Given the description of an element on the screen output the (x, y) to click on. 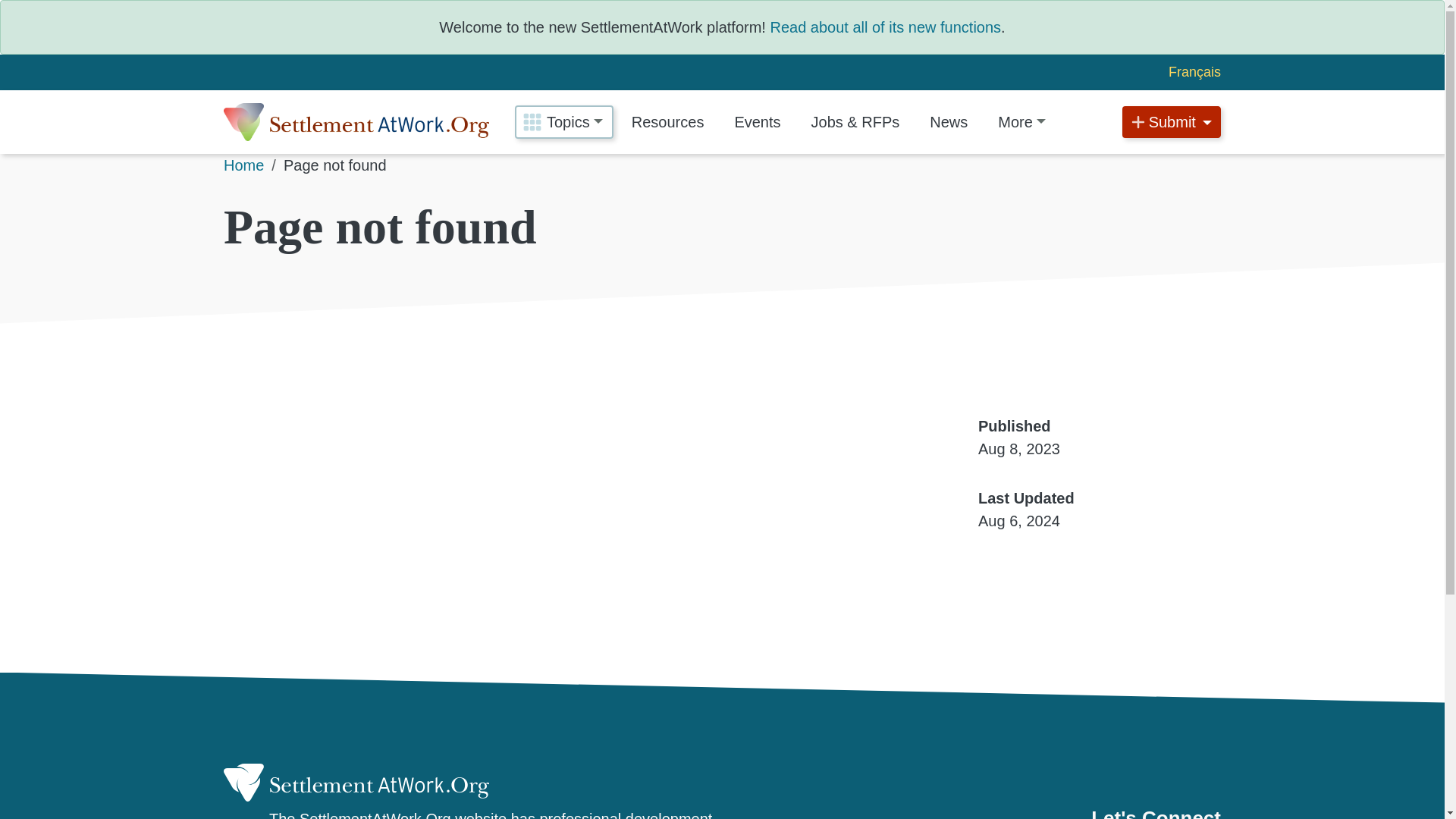
Tuesday, August 8, 2023 - 15:28 (1018, 448)
Expand menu Topics (563, 121)
Skip to main content (75, 13)
Topics (563, 121)
Home (356, 121)
Expand menu More (1021, 122)
Read about all of its new functions (885, 27)
Tuesday, August 6, 2024 - 17:10 (1018, 520)
